Given the description of an element on the screen output the (x, y) to click on. 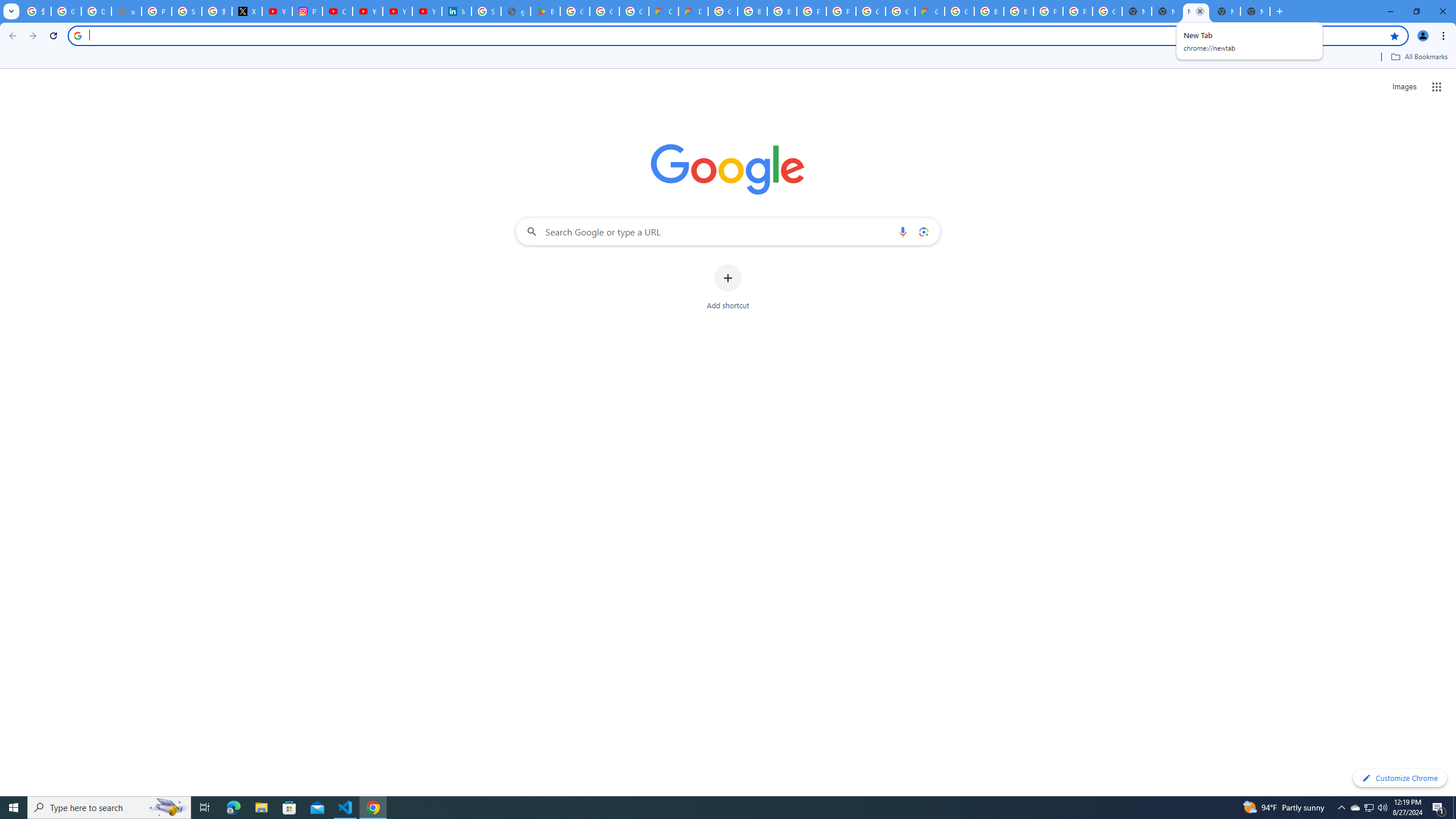
New Tab (1195, 11)
YouTube Content Monetization Policies - How YouTube Works (277, 11)
